Given the description of an element on the screen output the (x, y) to click on. 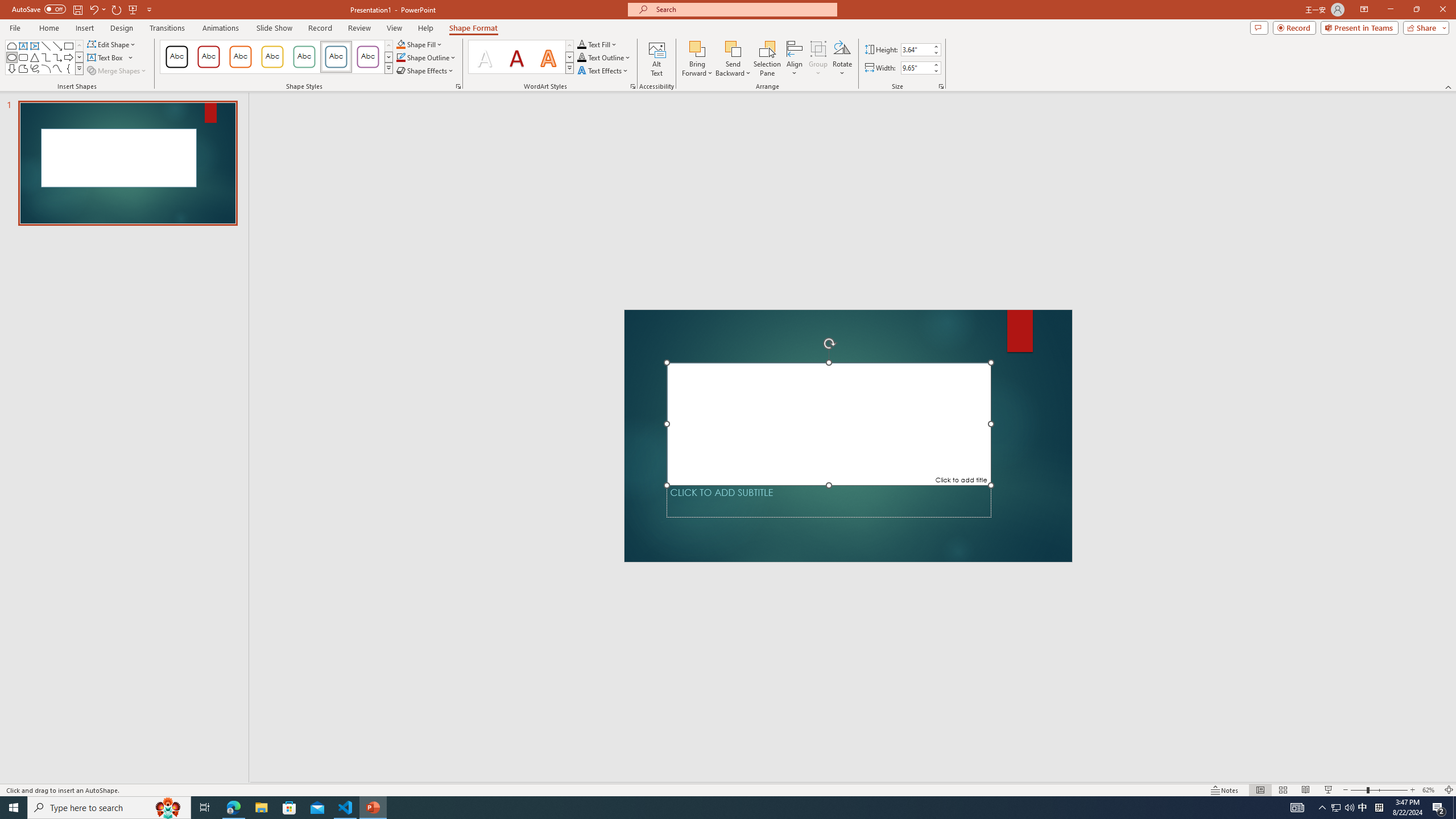
Alt Text (656, 58)
AutomationID: ShapeStylesGallery (276, 56)
Text Effects (603, 69)
Text Fill (596, 44)
Fill: Dark Red, Accent color 1; Shadow (516, 56)
Group (817, 58)
Colored Outline - Orange, Accent 2 (240, 56)
Shape Fill Orange, Accent 2 (400, 44)
